Given the description of an element on the screen output the (x, y) to click on. 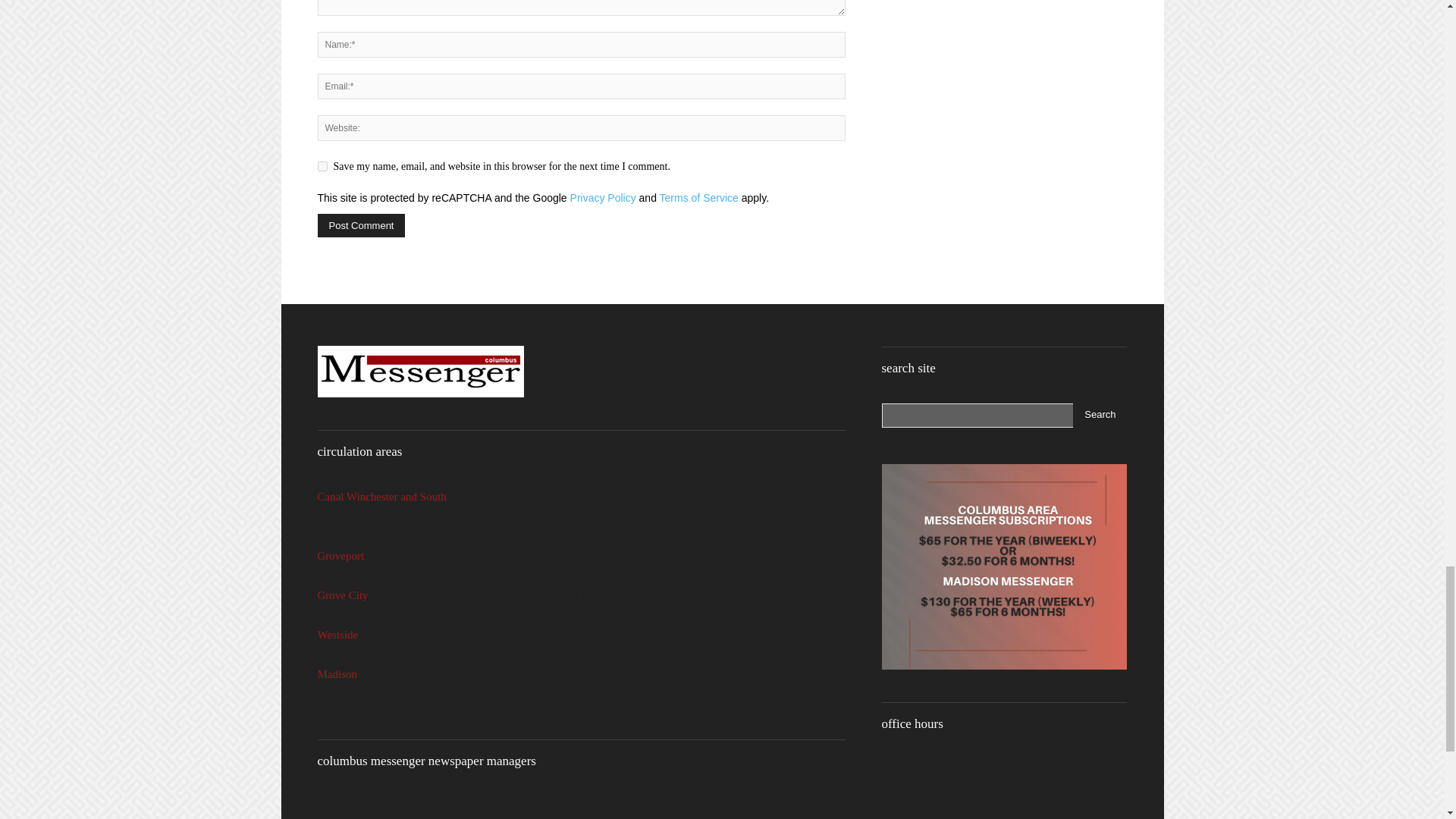
yes (321, 166)
Post Comment (360, 225)
Search (1099, 415)
